Given the description of an element on the screen output the (x, y) to click on. 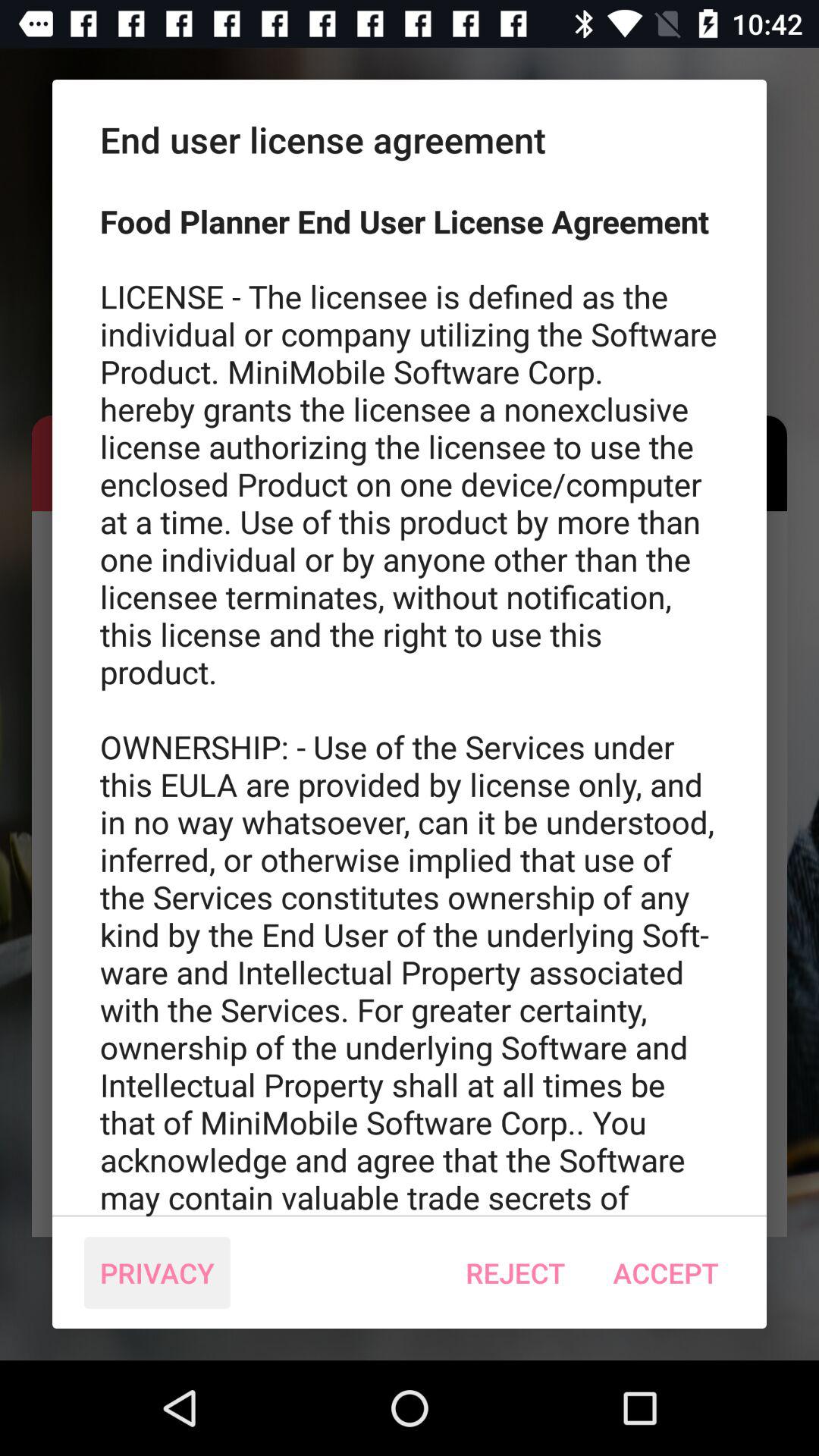
choose the icon to the left of reject (157, 1272)
